Given the description of an element on the screen output the (x, y) to click on. 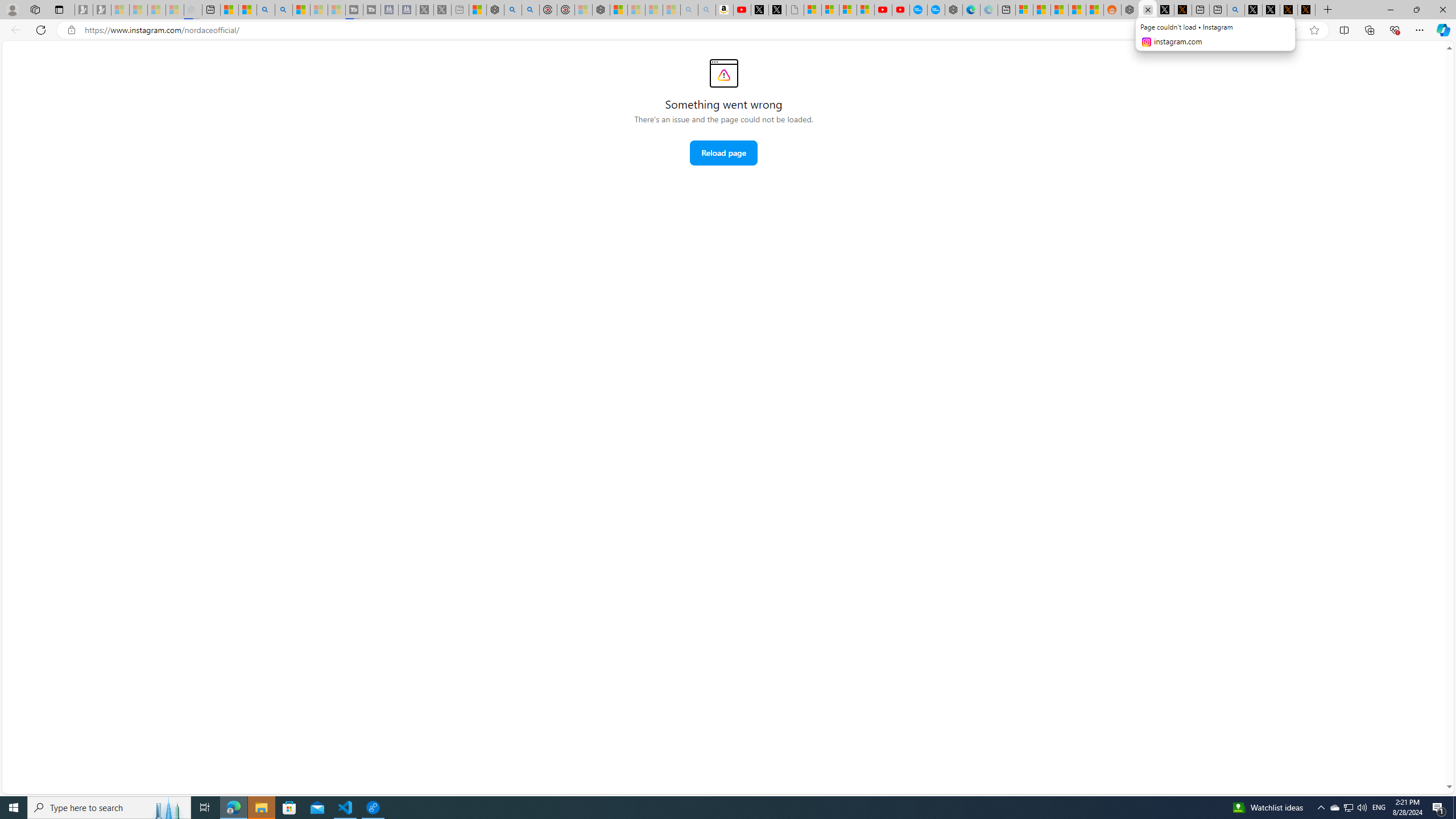
Nordace - Nordace Siena Is Not An Ordinary Backpack (601, 9)
GitHub (@github) / X (1270, 9)
